Given the description of an element on the screen output the (x, y) to click on. 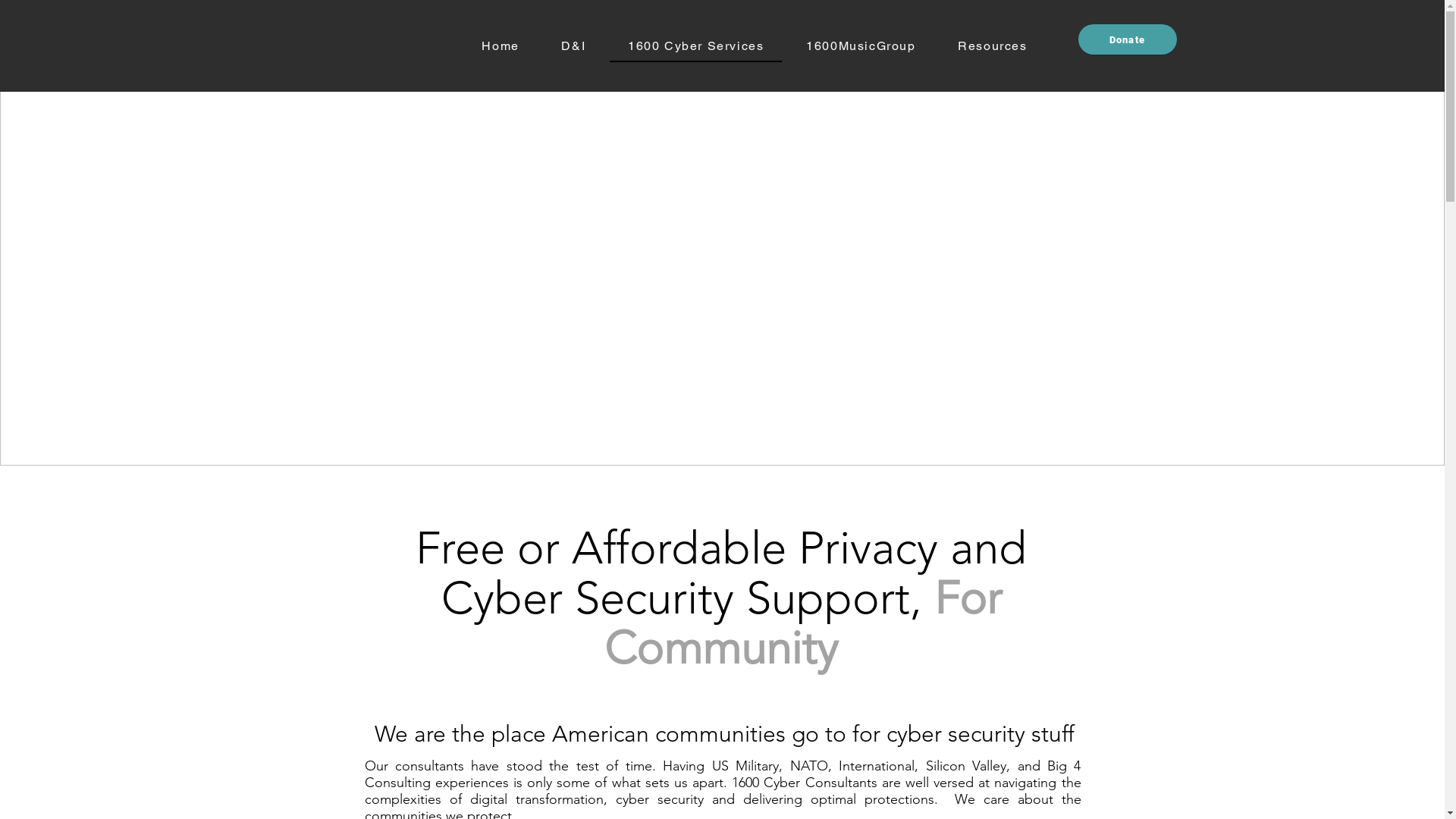
Home Element type: text (500, 46)
1600MusicGroup Element type: text (860, 46)
Donate Element type: text (1127, 39)
D&I Element type: text (573, 46)
1600 Cyber Services Element type: text (695, 46)
